Given the description of an element on the screen output the (x, y) to click on. 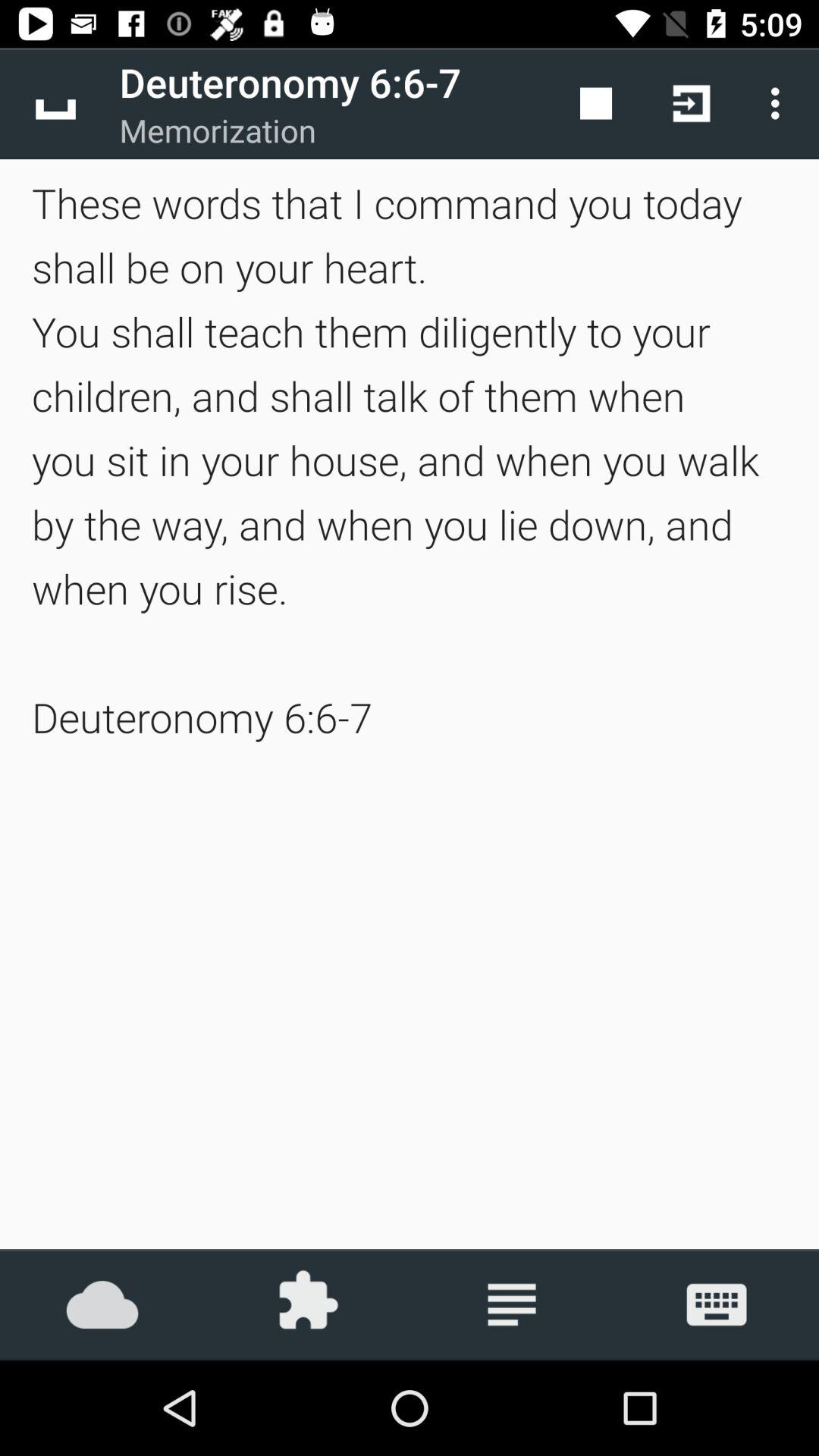
keyboard (716, 1304)
